Given the description of an element on the screen output the (x, y) to click on. 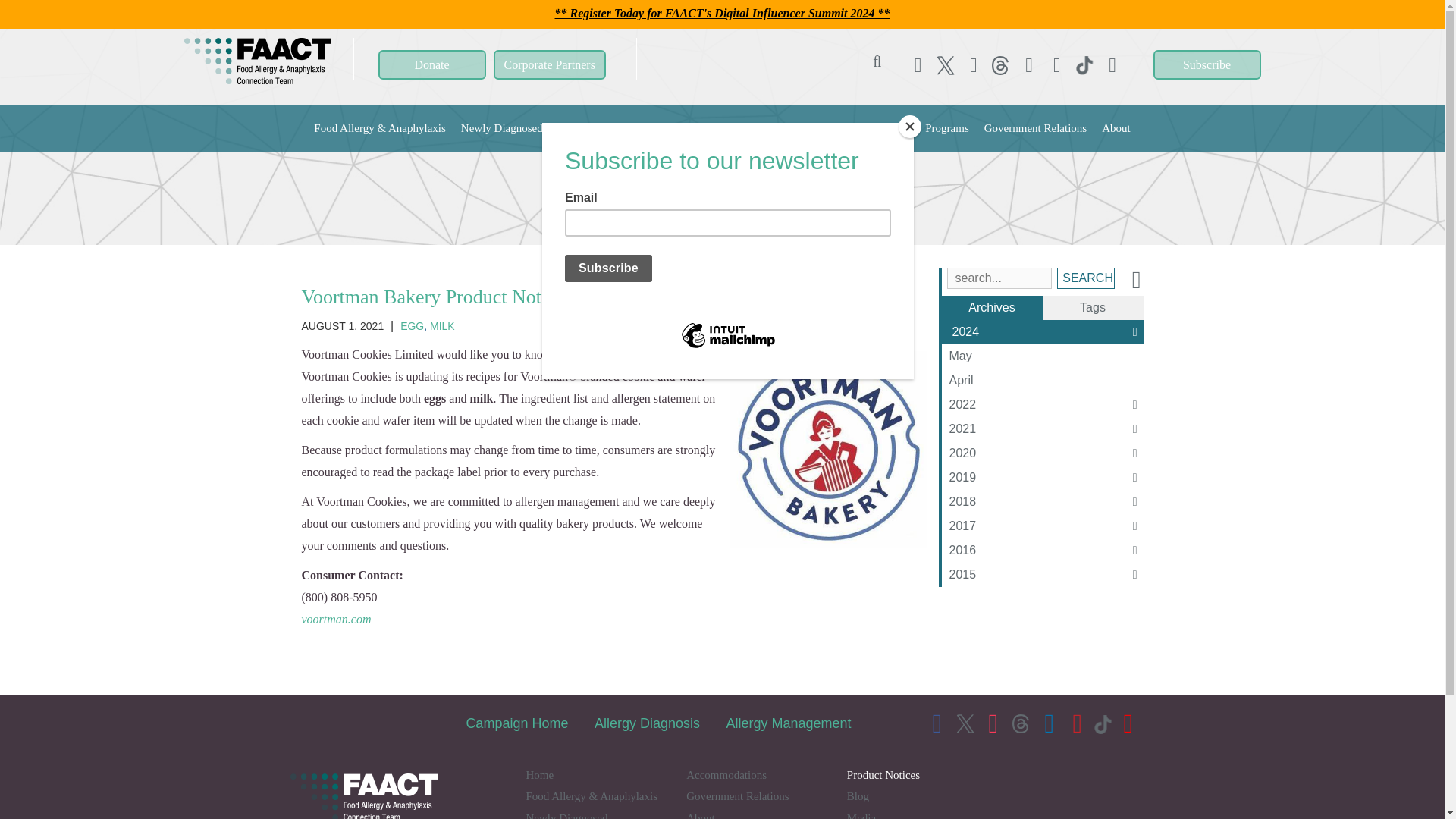
visit our vimeo page (1001, 65)
visit our twitter page (946, 65)
visit our vimeo page (1001, 65)
Click to Search Site (876, 64)
visit our LinkedIn page (1029, 65)
visit our Instagram page (973, 65)
visit our facebook page (917, 65)
visit our YouTube page (1112, 65)
Newly Diagnosed (501, 127)
visit our facebook page (917, 65)
visit our TikTok page (1105, 705)
Corporate Partners (549, 64)
visit our twitter page (946, 65)
visit our Pinterest page (1056, 65)
visit our YouTube page (1112, 65)
